Given the description of an element on the screen output the (x, y) to click on. 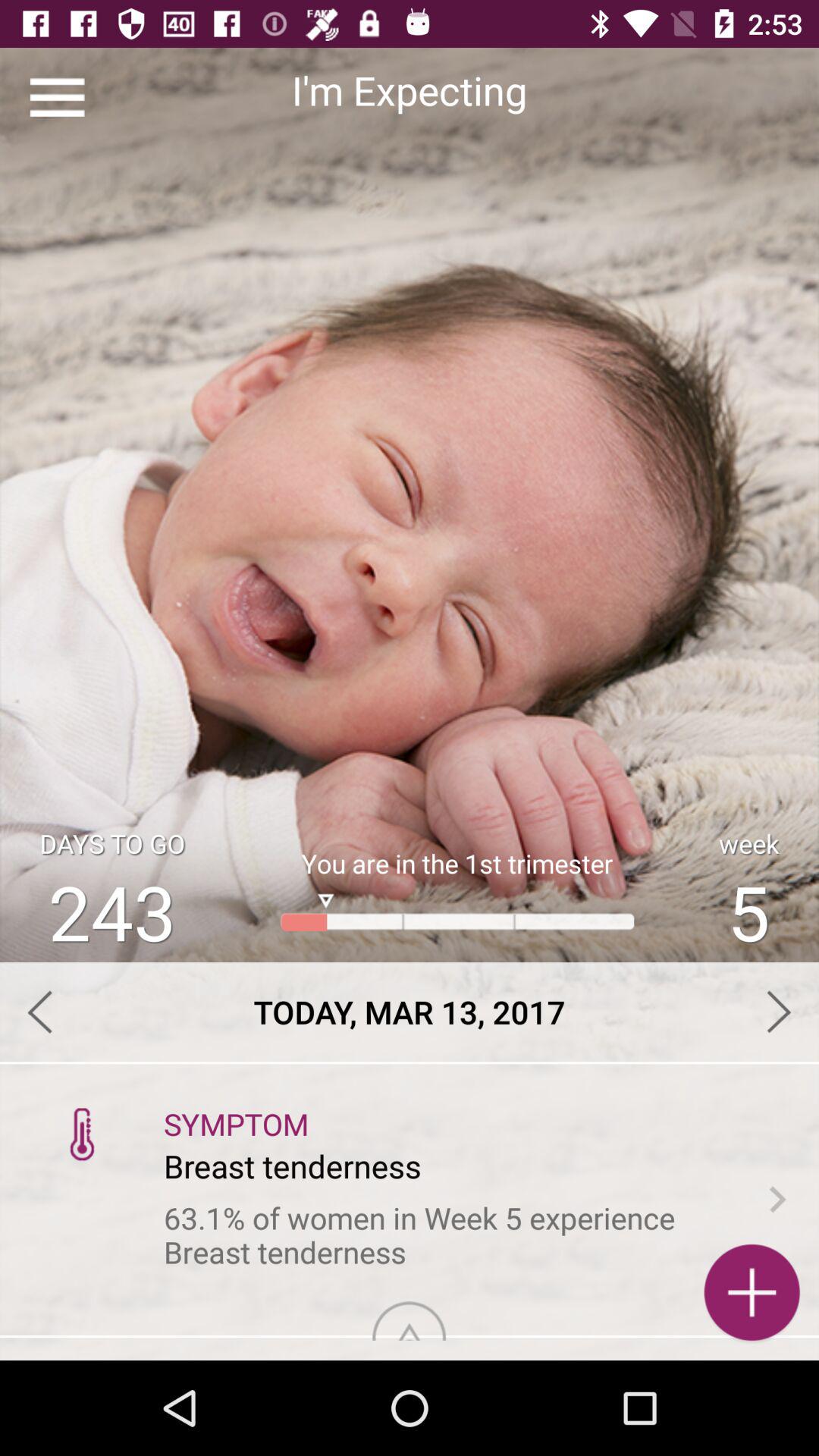
select the icon to the left of the symptom app (81, 1133)
